Given the description of an element on the screen output the (x, y) to click on. 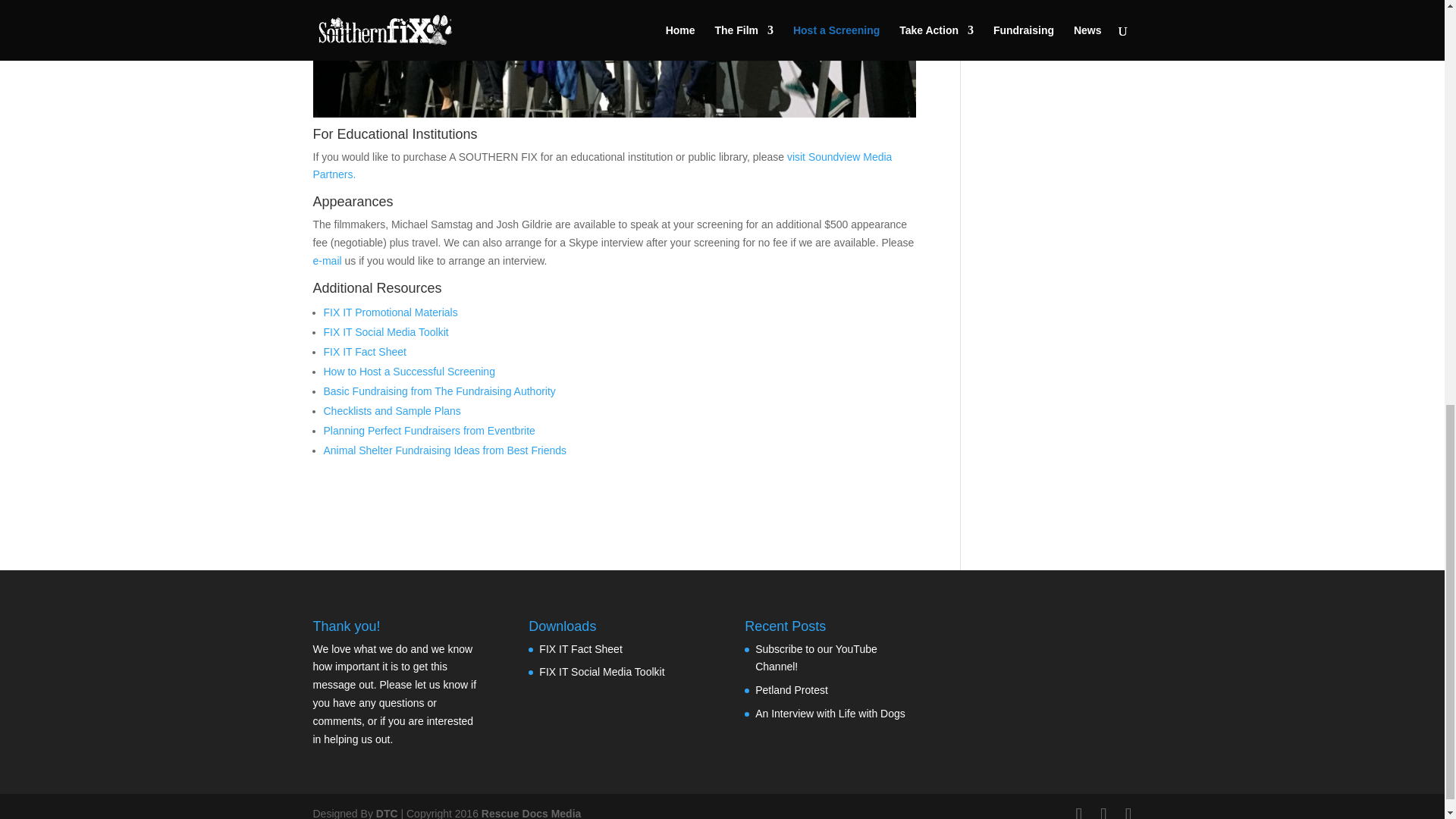
FIX IT Social Media Toolkit (385, 331)
How to Host a Successful Screening (409, 371)
FIX IT Promotional Materials (390, 312)
e-mail (326, 260)
FIX IT Fact Sheet (364, 351)
visit Soundview Media Partners. (602, 165)
